Given the description of an element on the screen output the (x, y) to click on. 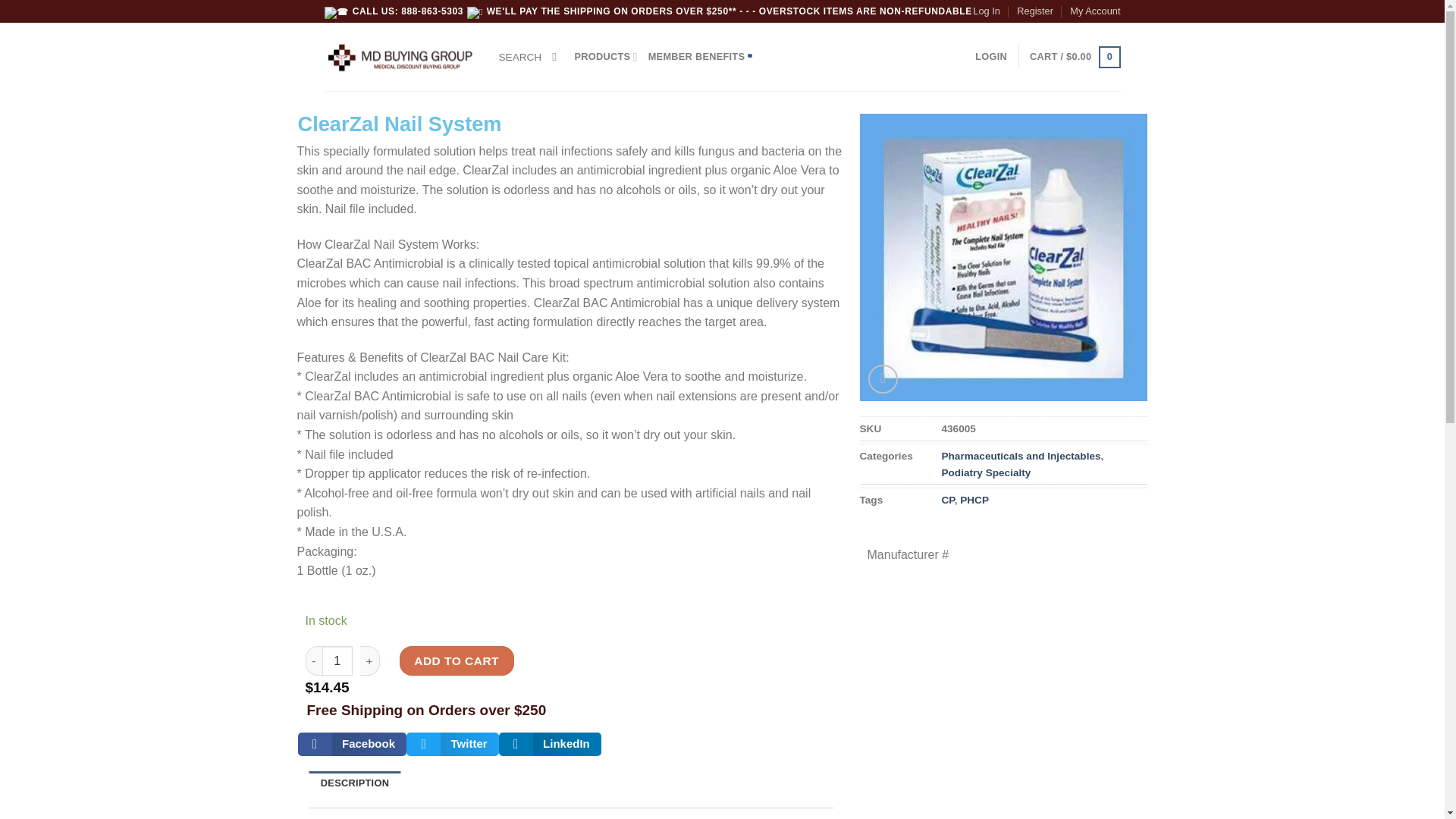
Log In (986, 11)
LOGIN (991, 56)
Register (1034, 11)
PRODUCTS (606, 56)
Login (991, 56)
DESCRIPTION (354, 783)
ADD TO CART (455, 660)
My Account (1094, 11)
Zoom (882, 378)
Pharmaceuticals and Injectables (1021, 455)
